Given the description of an element on the screen output the (x, y) to click on. 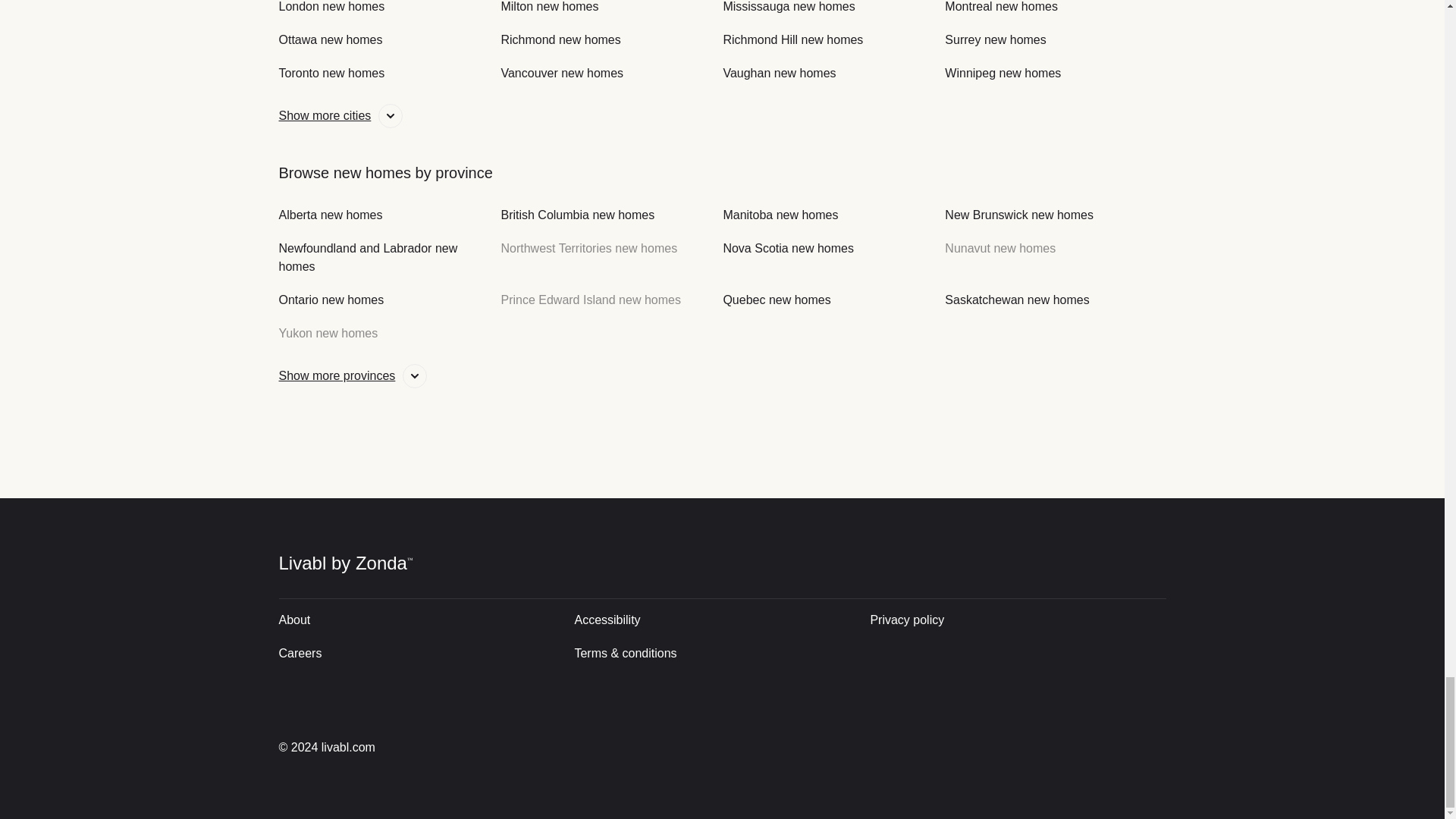
Facebook (1098, 747)
Instagram (1045, 747)
Pinterest (1150, 747)
Twitter (991, 747)
